Given the description of an element on the screen output the (x, y) to click on. 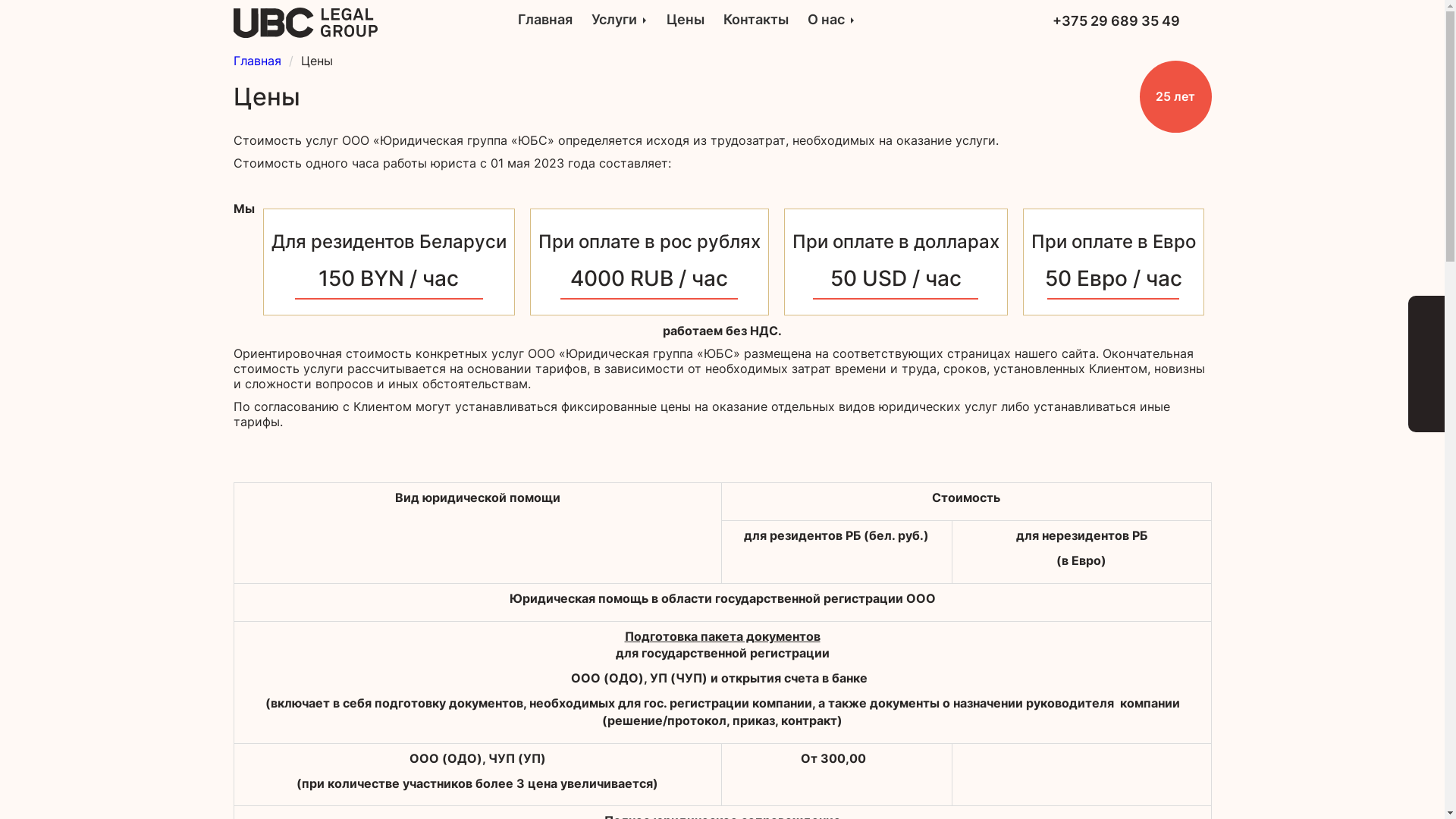
ubc.by Element type: hover (305, 22)
+375 29 689 35 49 Element type: text (1115, 20)
